Given the description of an element on the screen output the (x, y) to click on. 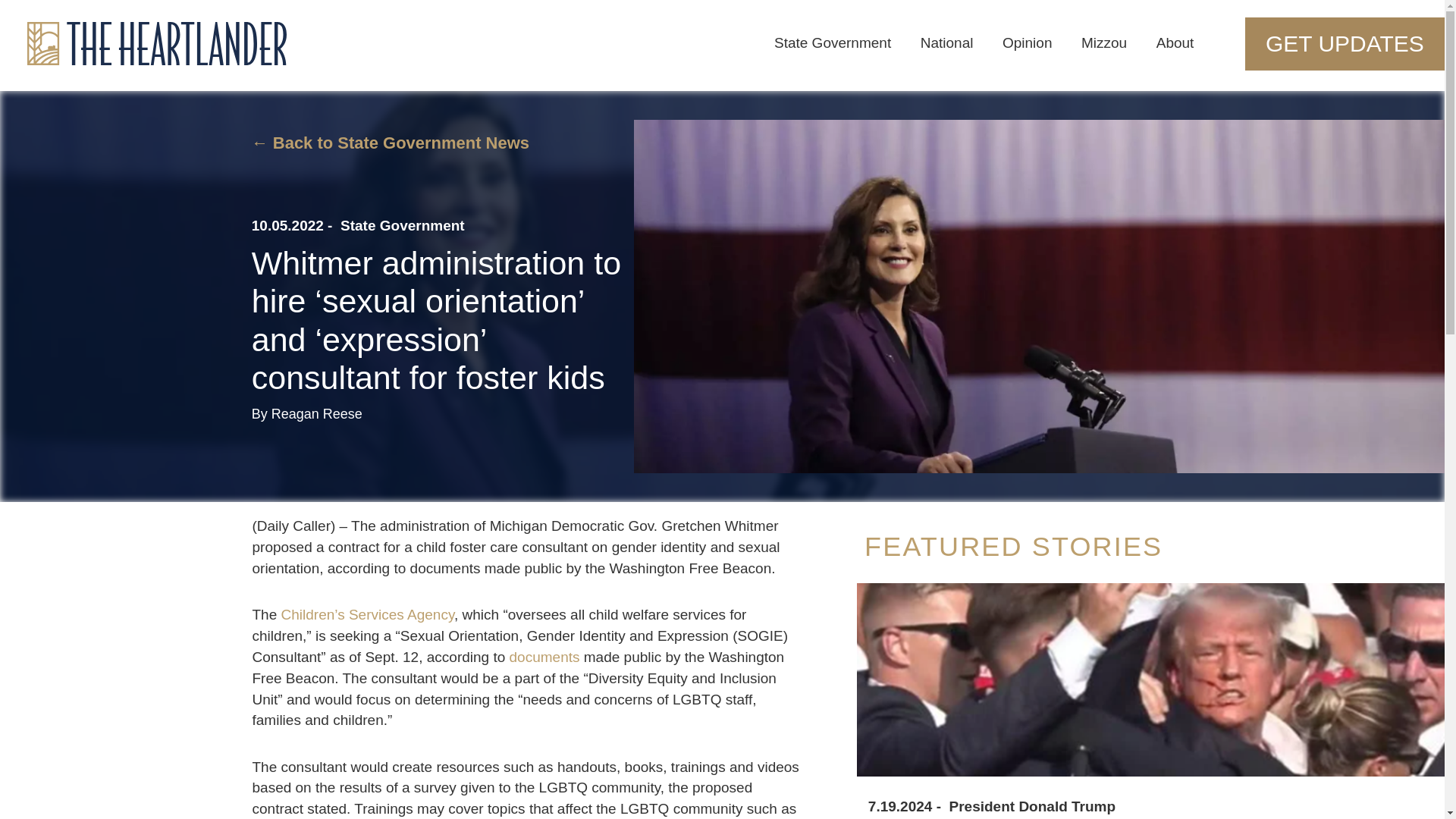
State Government (402, 226)
documents (544, 657)
GET UPDATES (1423, 43)
President Donald Trump (1032, 806)
